Given the description of an element on the screen output the (x, y) to click on. 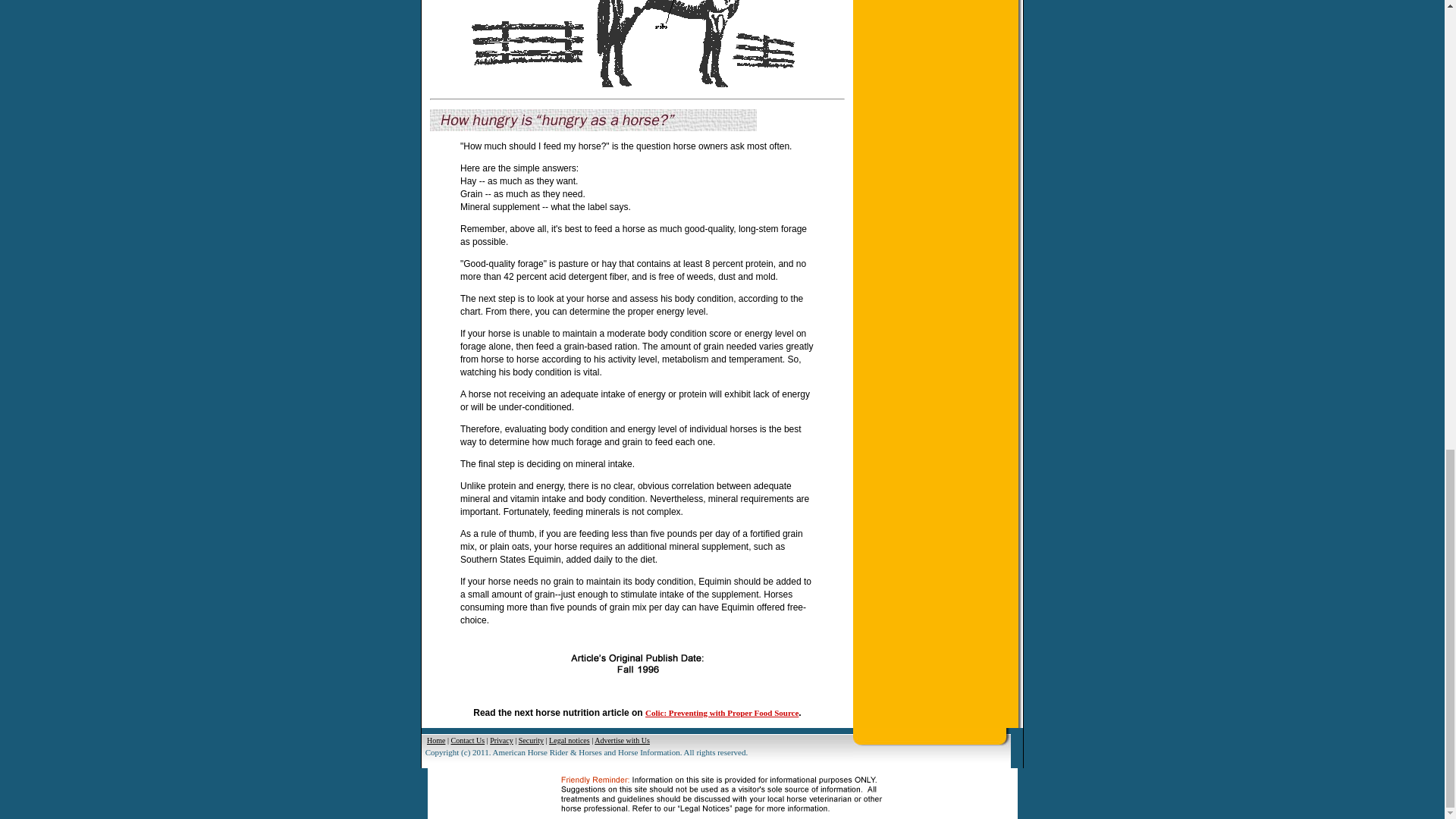
Legal notices (568, 740)
Home (435, 740)
Contact Us (466, 740)
Advertise with Us (621, 740)
Privacy (501, 740)
Colic: Preventing with Proper Food Source (721, 712)
Security (530, 740)
